Given the description of an element on the screen output the (x, y) to click on. 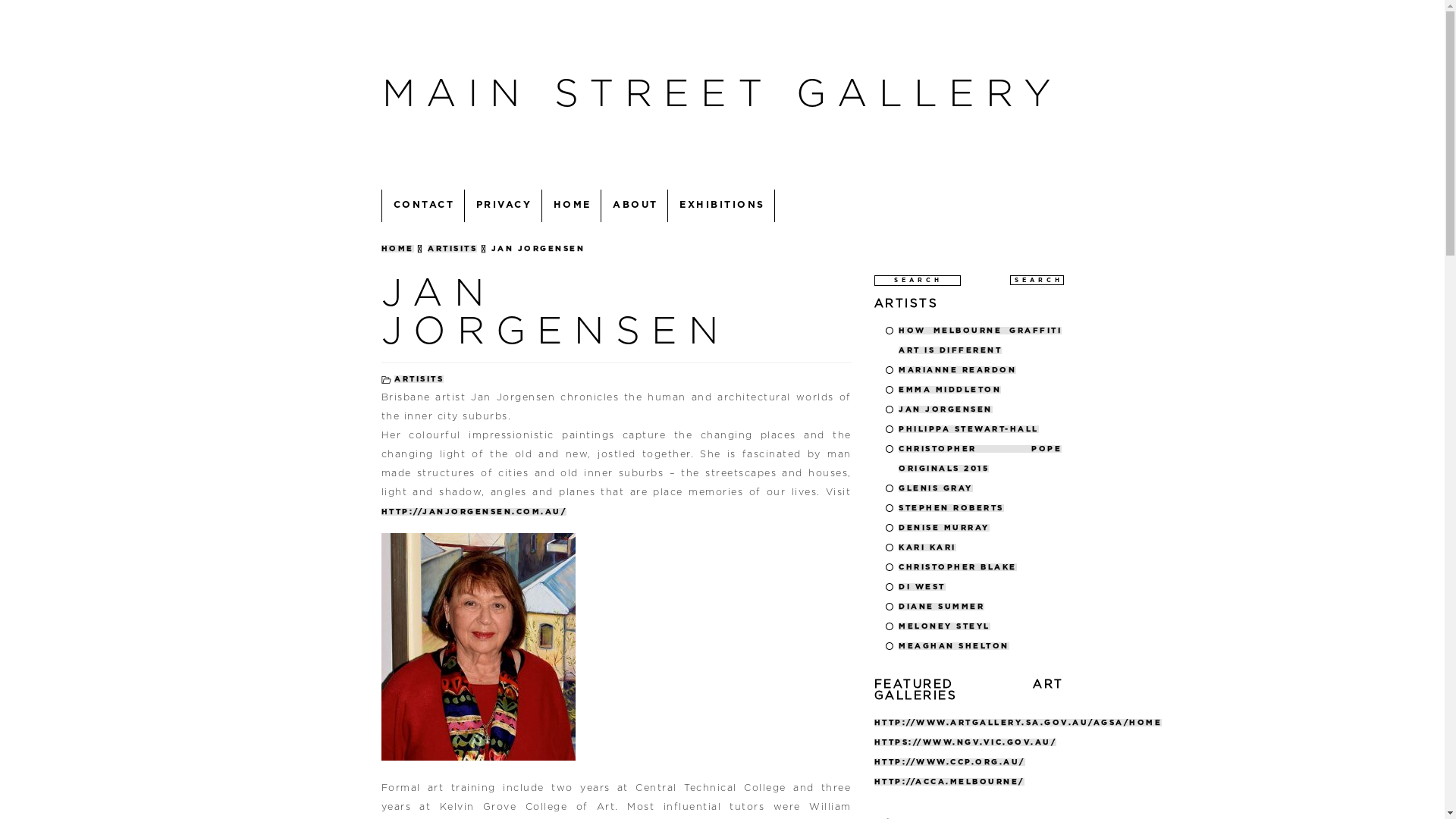
CHRISTOPHER POPE ORIGINALS 2015 Element type: text (979, 457)
PHILIPPA STEWART-HALL Element type: text (968, 428)
JAN JORGENSEN Element type: text (554, 312)
DI WEST Element type: text (921, 585)
KARI KARI Element type: text (927, 546)
JAN JORGENSEN Element type: text (945, 408)
ARTISITS Element type: text (451, 247)
MARIANNE REARDON Element type: text (957, 369)
HTTP://WWW.CCP.ORG.AU/ Element type: text (948, 761)
CHRISTOPHER BLAKE Element type: text (957, 566)
EXHIBITIONS Element type: text (721, 205)
MEAGHAN SHELTON Element type: text (953, 645)
EMMA MIDDLETON Element type: text (949, 388)
Search Element type: text (1036, 279)
PRIVACY Element type: text (502, 205)
ARTISITS Element type: text (418, 378)
DIANE SUMMER Element type: text (941, 605)
DENISE MURRAY Element type: text (943, 526)
HTTPS://WWW.NGV.VIC.GOV.AU/ Element type: text (964, 742)
HTTP://ACCA.MELBOURNE/ Element type: text (948, 781)
HTTP://JANJORGENSEN.COM.AU/ Element type: text (473, 511)
ABOUT Element type: text (634, 205)
MELONEY STEYL Element type: text (944, 625)
GLENIS GRAY Element type: text (935, 487)
HOME Element type: text (571, 205)
CONTACT Element type: text (423, 205)
HTTP://WWW.ARTGALLERY.SA.GOV.AU/AGSA/HOME Element type: text (1017, 722)
HOME Element type: text (396, 247)
HOW MELBOURNE GRAFFITI ART IS DIFFERENT Element type: text (979, 339)
MAIN STREET GALLERY Element type: text (722, 94)
STEPHEN ROBERTS Element type: text (951, 507)
